Given the description of an element on the screen output the (x, y) to click on. 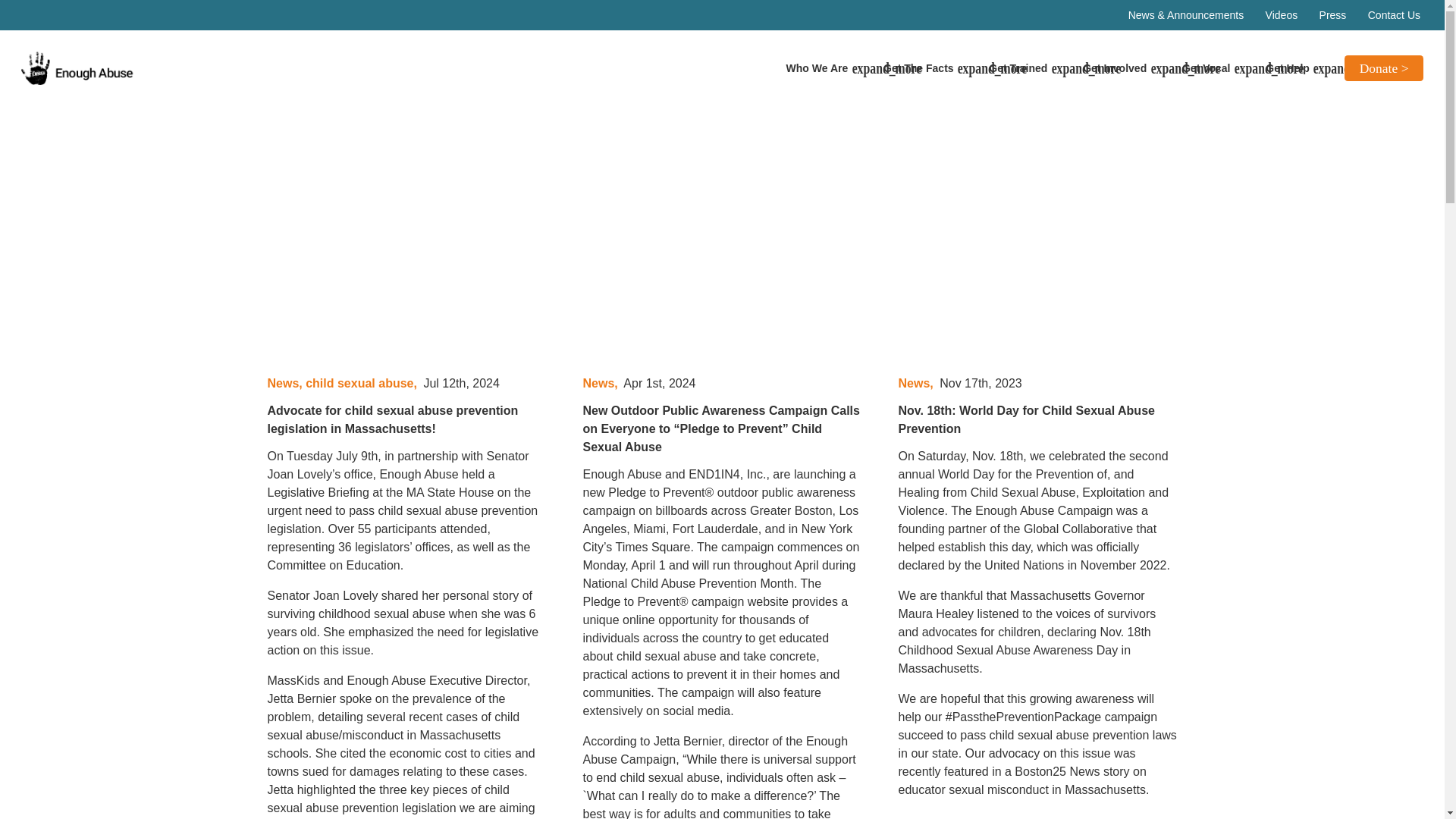
Get Involved (1122, 68)
Get Vocal (1213, 68)
Who We Are (823, 68)
Get Trained (1024, 68)
Get The Facts (925, 68)
